Given the description of an element on the screen output the (x, y) to click on. 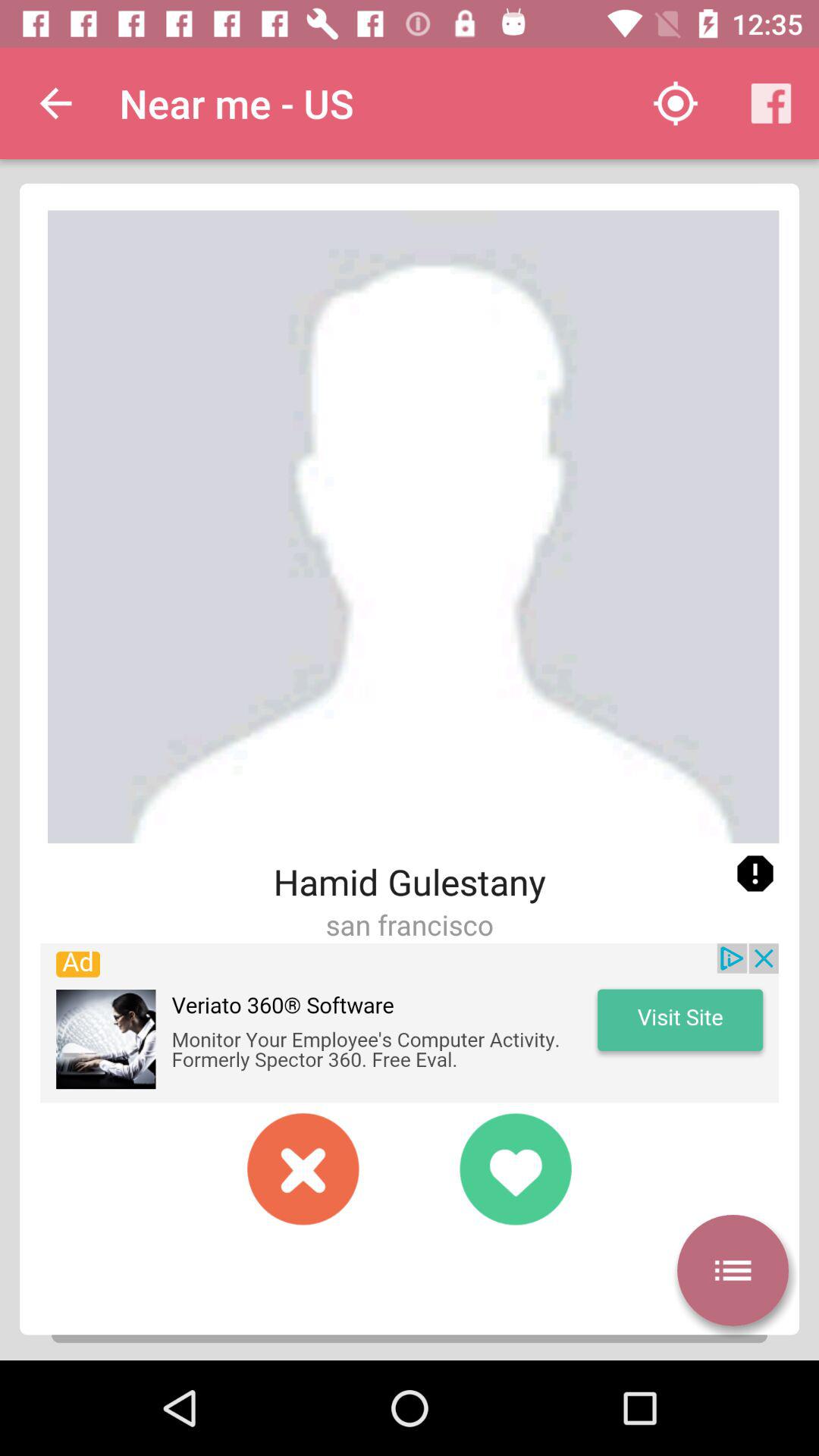
like and save this contact (515, 1169)
